Given the description of an element on the screen output the (x, y) to click on. 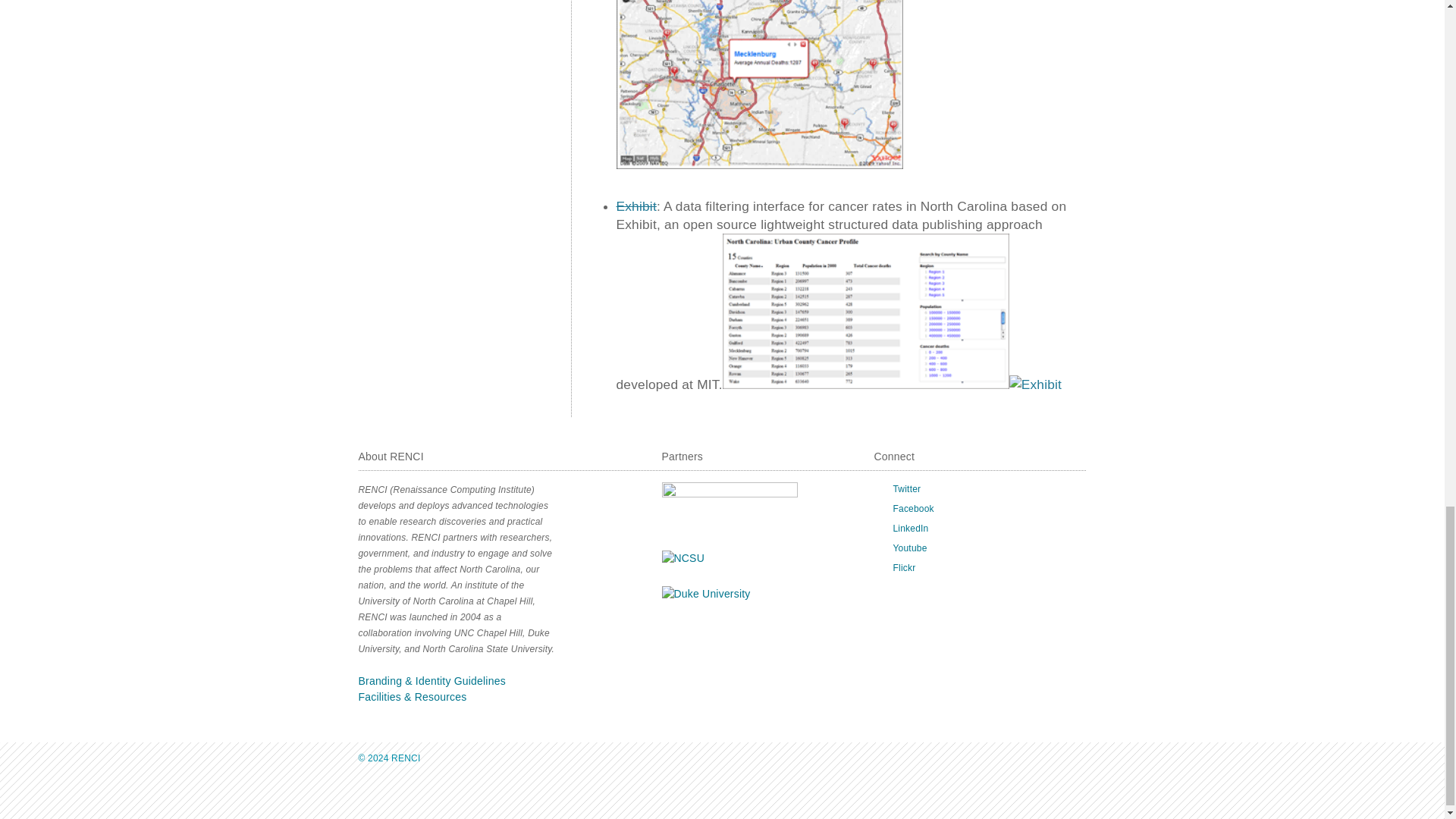
Exhibit (865, 311)
Exhibit (1035, 384)
Yahoo Map View (758, 84)
